Given the description of an element on the screen output the (x, y) to click on. 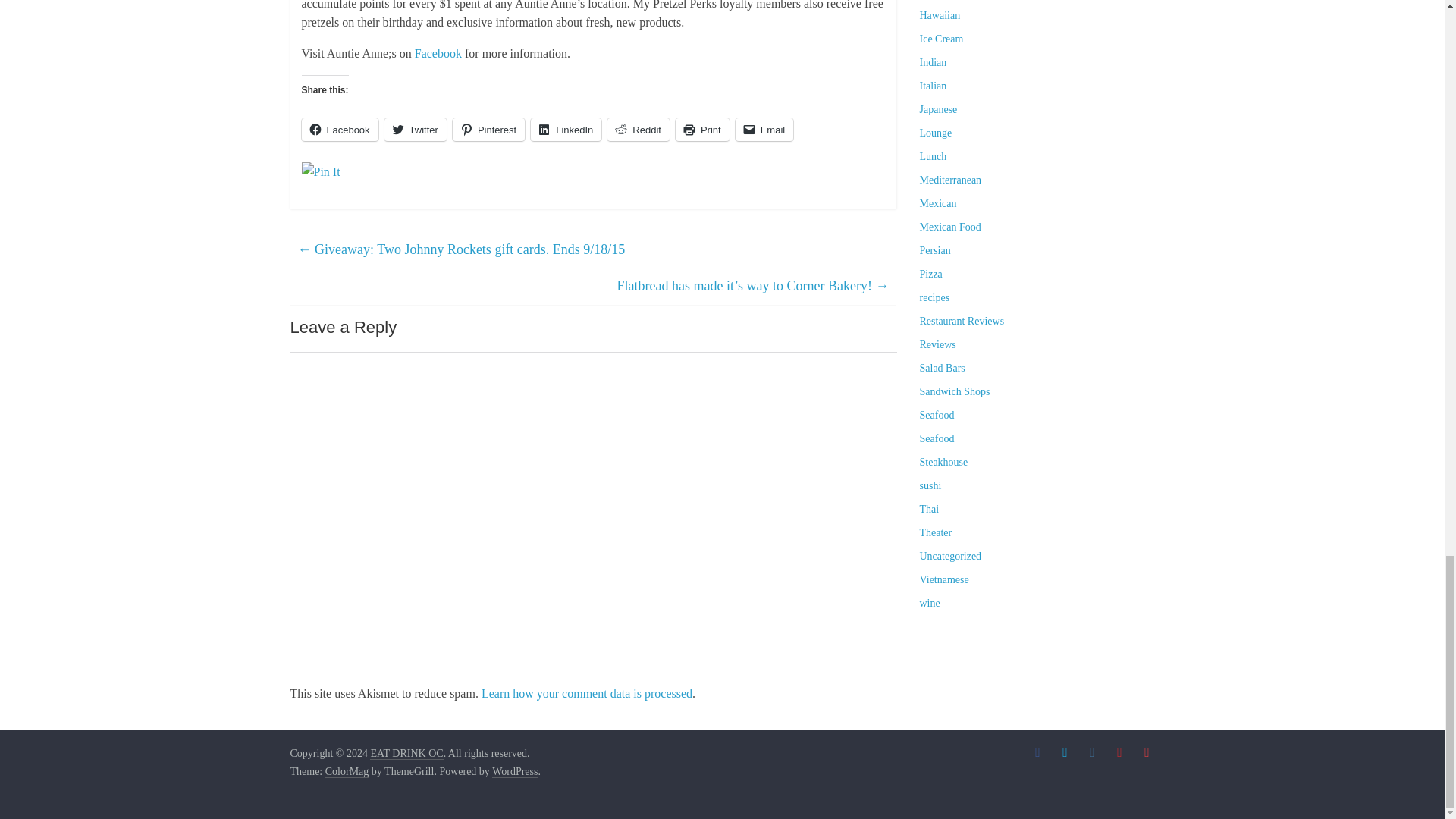
Click to share on Twitter (415, 128)
Pin It (320, 171)
Click to share on Reddit (638, 128)
Click to print (702, 128)
EAT DRINK OC (405, 753)
Click to share on Facebook (339, 128)
WordPress (514, 771)
Click to share on Pinterest (488, 128)
ColorMag (346, 771)
Click to share on LinkedIn (566, 128)
Click to email a link to a friend (764, 128)
